Given the description of an element on the screen output the (x, y) to click on. 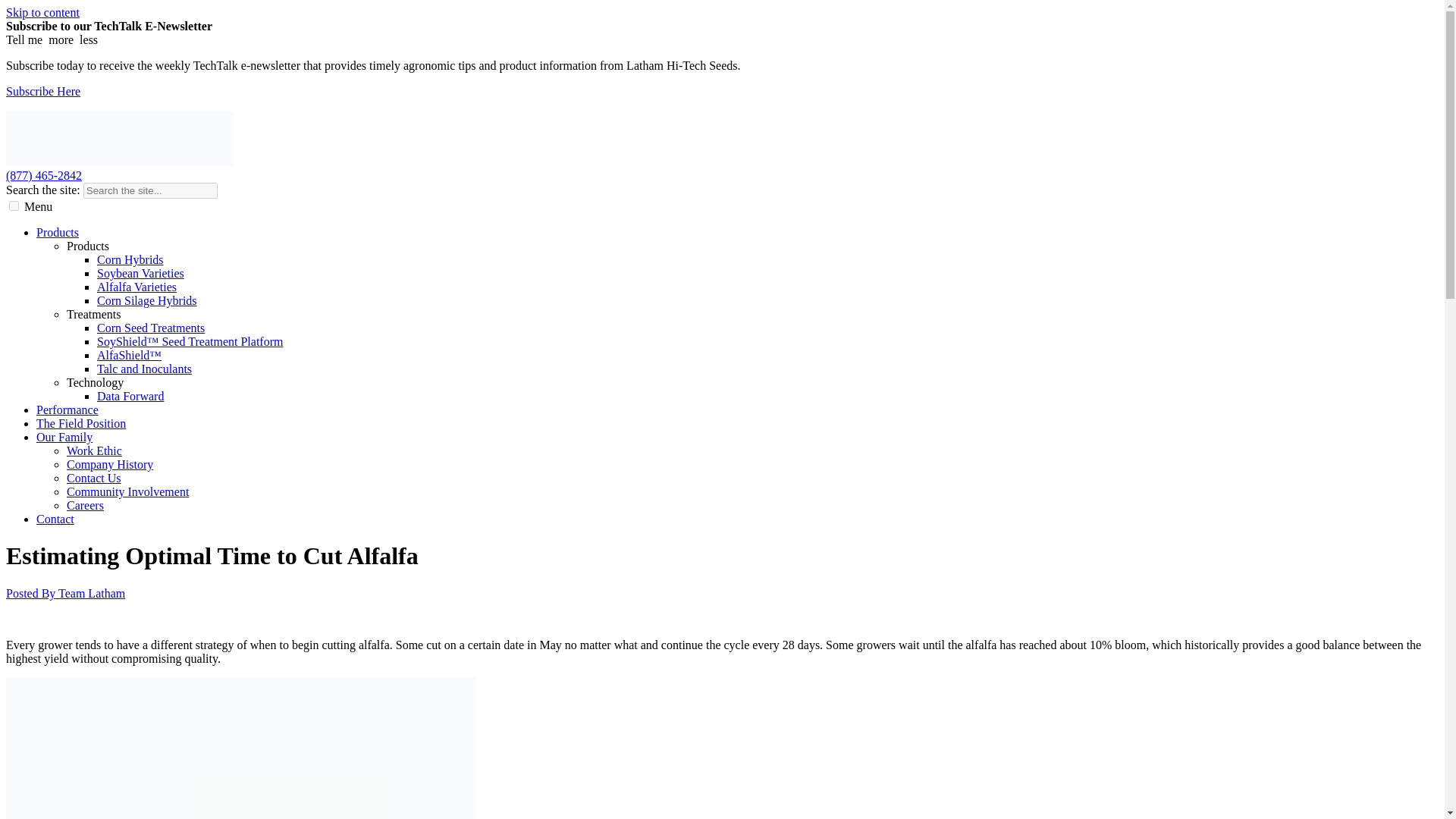
on (13, 205)
Company History (109, 463)
Contact (55, 518)
Subscribe Here (42, 91)
The Field Position (80, 422)
Soybean Varieties (140, 273)
Alfalfa Varieties (136, 286)
Careers (84, 504)
Talc and Inoculants (144, 368)
Products (57, 232)
Contact Us (93, 477)
Posted By Team Latham (65, 593)
Corn Hybrids (130, 259)
Skip to content (42, 11)
Performance (67, 409)
